Given the description of an element on the screen output the (x, y) to click on. 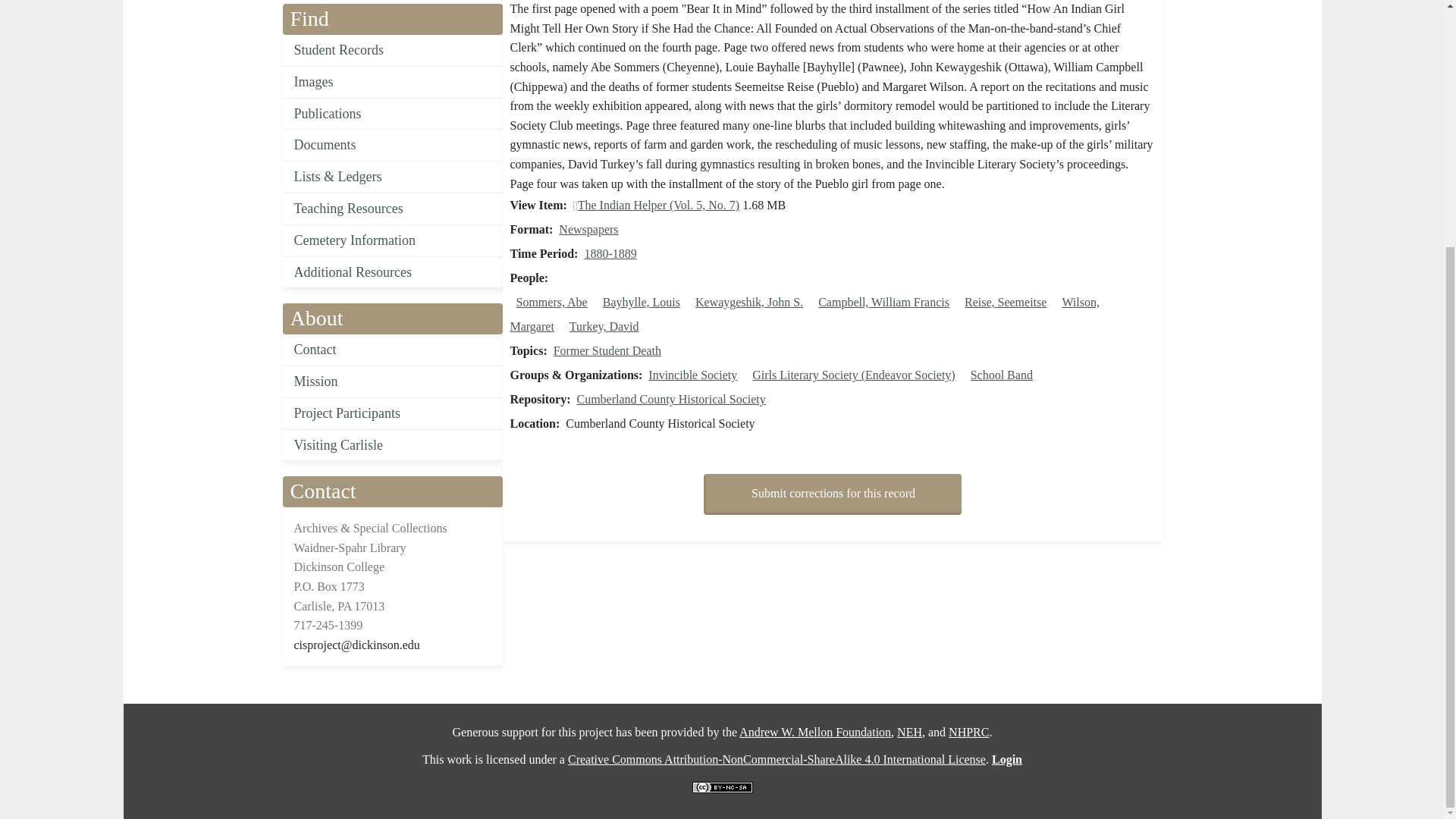
Project Participants (392, 413)
Visiting Carlisle (392, 445)
1880-1889 (609, 253)
Go to the Andrew W. Mellon Foundation site (815, 731)
Documents (392, 145)
Former Student Death (607, 350)
Kewaygeshik, John S. (749, 301)
Bayhylle, Louis (640, 301)
Cemetery Information (392, 241)
Additional Resources (392, 273)
Newspapers (588, 228)
School Band (1001, 374)
NEH (908, 731)
Publications (392, 114)
Go to the Creative Commons site for more information (776, 758)
